Given the description of an element on the screen output the (x, y) to click on. 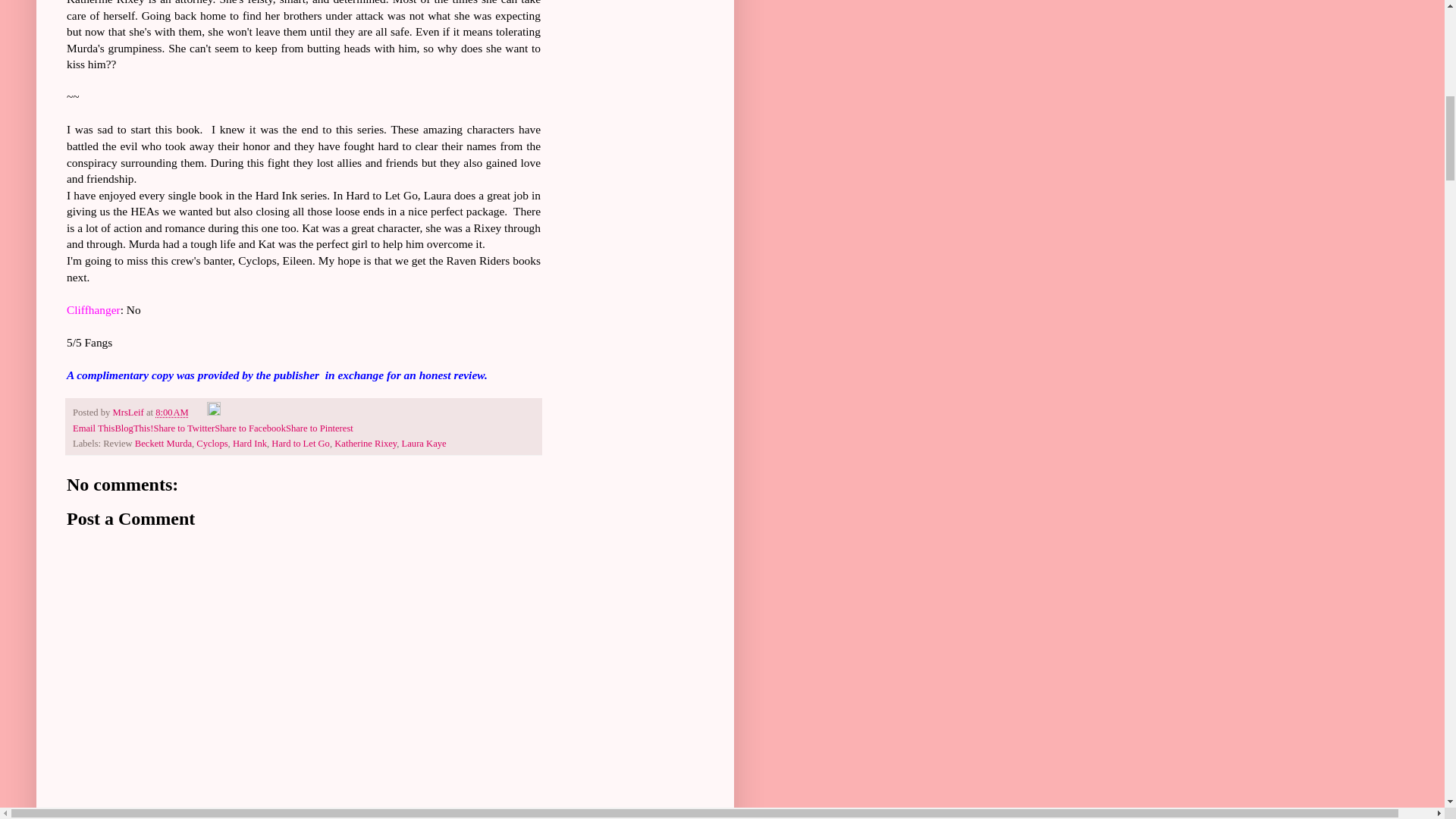
Share to Pinterest (319, 428)
Katherine Rixey (365, 443)
author profile (128, 412)
Email This (93, 428)
Edit Post (213, 412)
Laura Kaye (423, 443)
Share to Pinterest (319, 428)
Share to Twitter (183, 428)
Hard Ink (249, 443)
BlogThis! (133, 428)
Beckett Murda (163, 443)
permanent link (172, 412)
MrsLeif (128, 412)
Hard to Let Go (300, 443)
Email Post (198, 412)
